Given the description of an element on the screen output the (x, y) to click on. 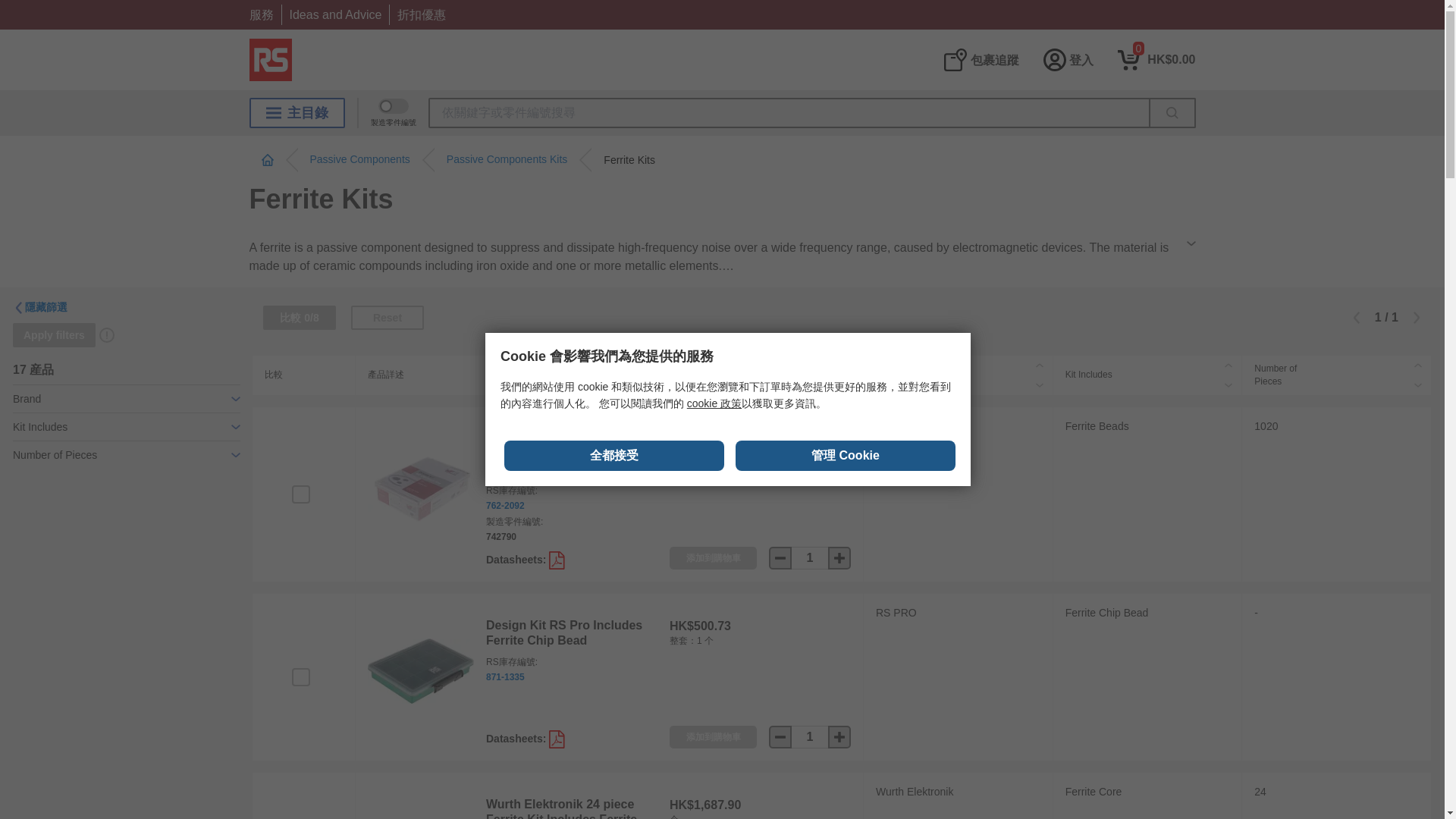
1 (810, 736)
on (299, 494)
1 (810, 558)
Ideas and Advice (335, 14)
0 (1156, 59)
on (299, 677)
